Given the description of an element on the screen output the (x, y) to click on. 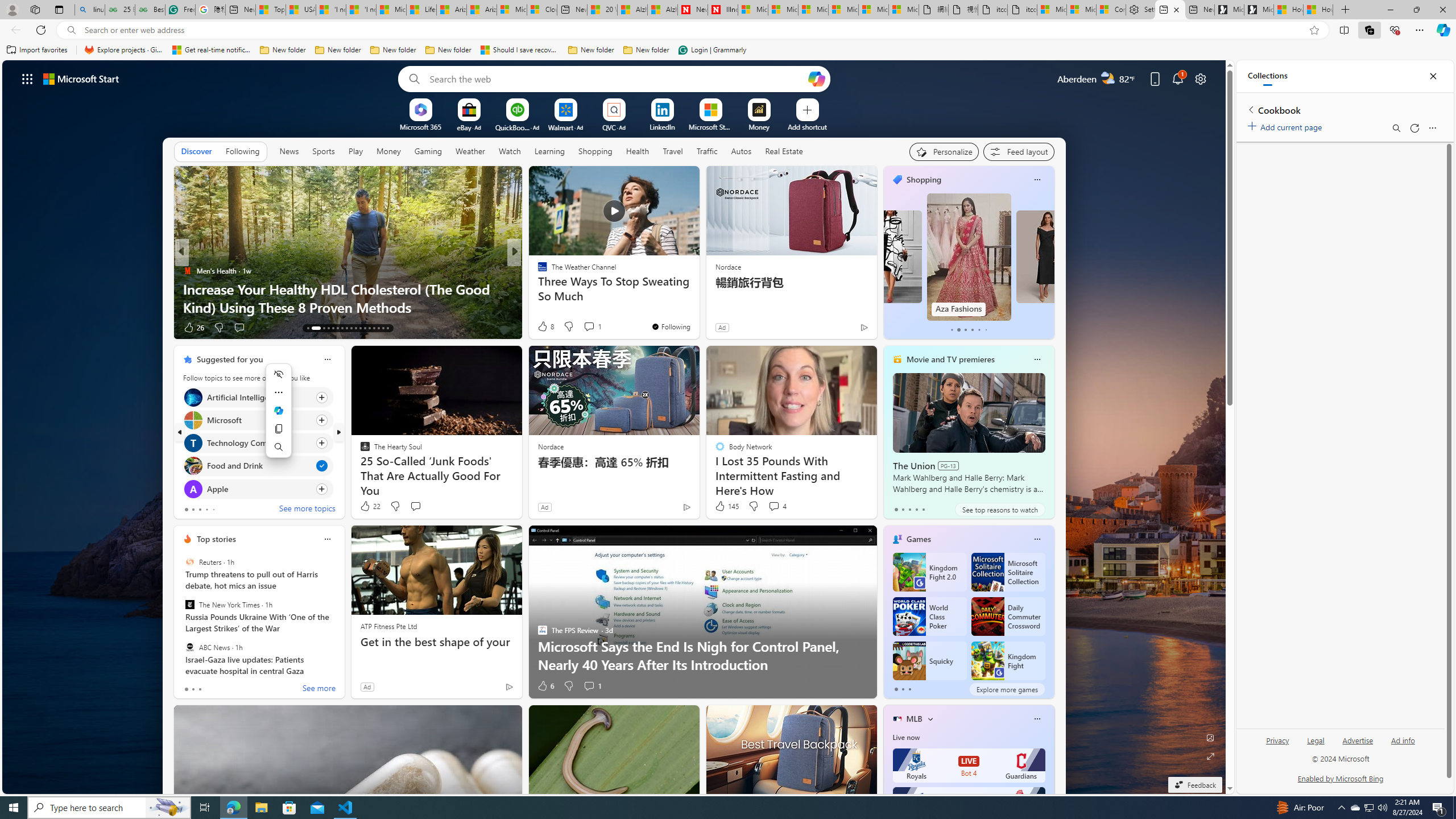
Partly cloudy (1107, 78)
INSIDER (537, 270)
Travel (672, 151)
New folder (646, 49)
AutomationID: tab-26 (374, 328)
Edit Background (1210, 737)
View comments 1 Comment (591, 685)
